Given the description of an element on the screen output the (x, y) to click on. 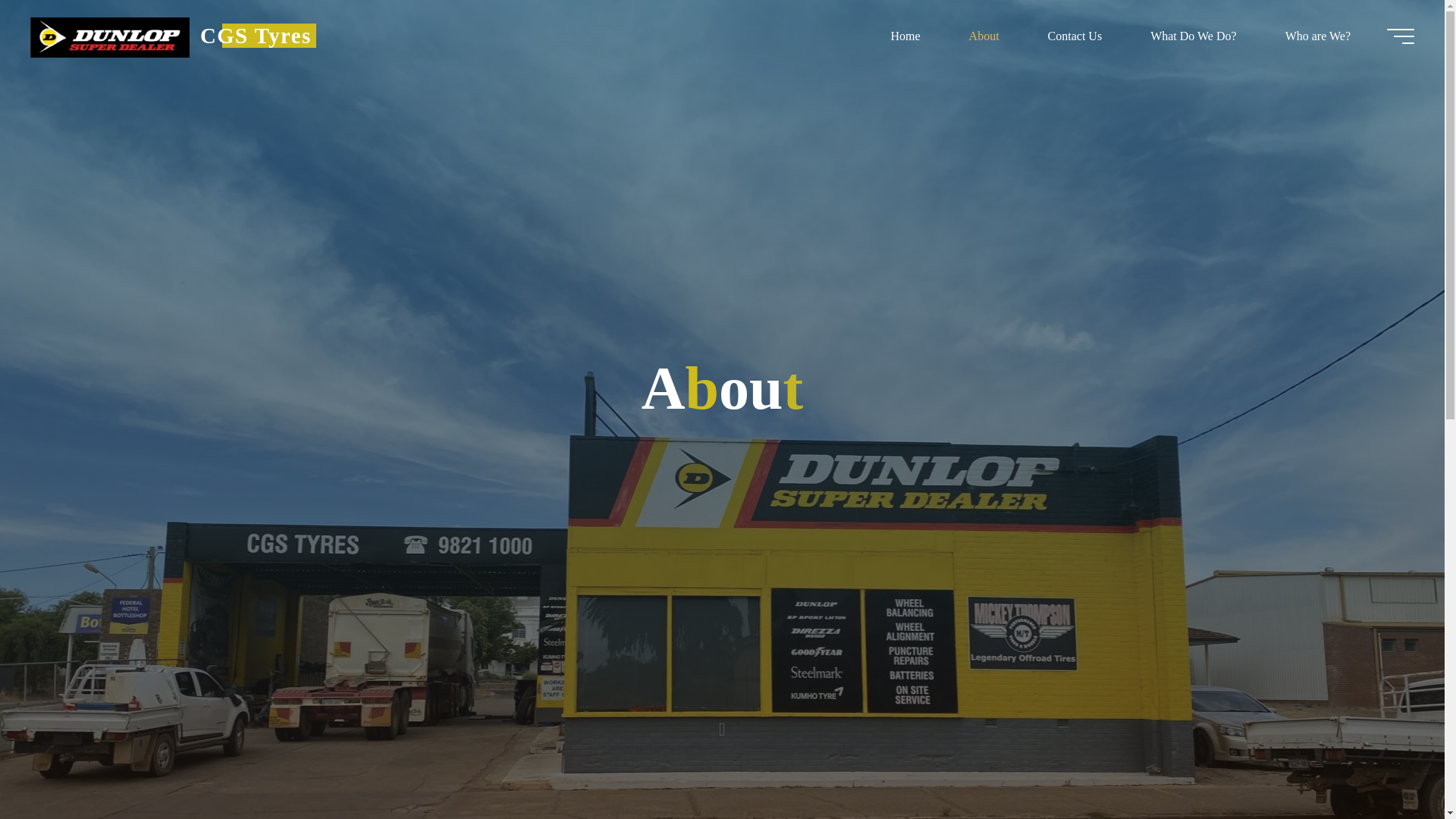
Home (904, 35)
CGS Tyres (255, 35)
What Do We Do? (1192, 35)
CGS Tyres (109, 35)
About (983, 35)
Read more (721, 724)
Contact Us (1074, 35)
Your Local Dunlop Super Dealer (255, 35)
Who are We? (1317, 35)
